Given the description of an element on the screen output the (x, y) to click on. 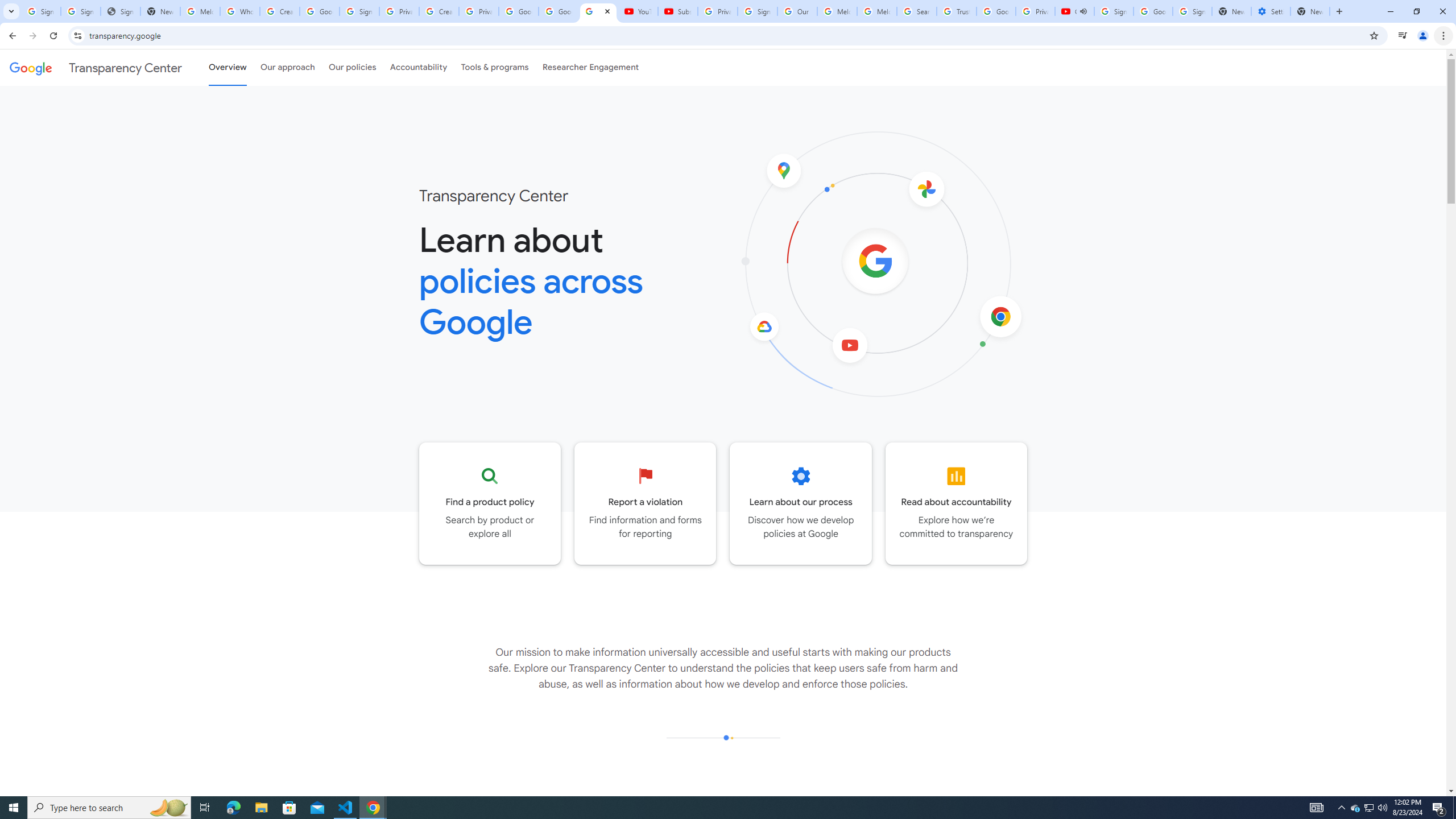
Who is my administrator? - Google Account Help (239, 11)
Sign in - Google Accounts (757, 11)
YouTube (637, 11)
Subscriptions - YouTube (677, 11)
Go to the Reporting and appeals page (645, 503)
Transparency Center (95, 67)
